Given the description of an element on the screen output the (x, y) to click on. 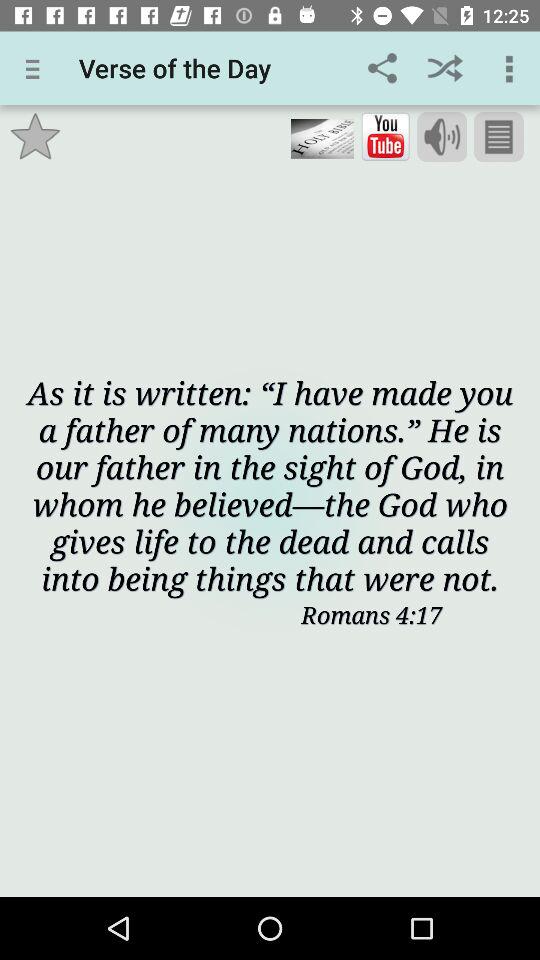
click the icon above as it is item (385, 137)
